Given the description of an element on the screen output the (x, y) to click on. 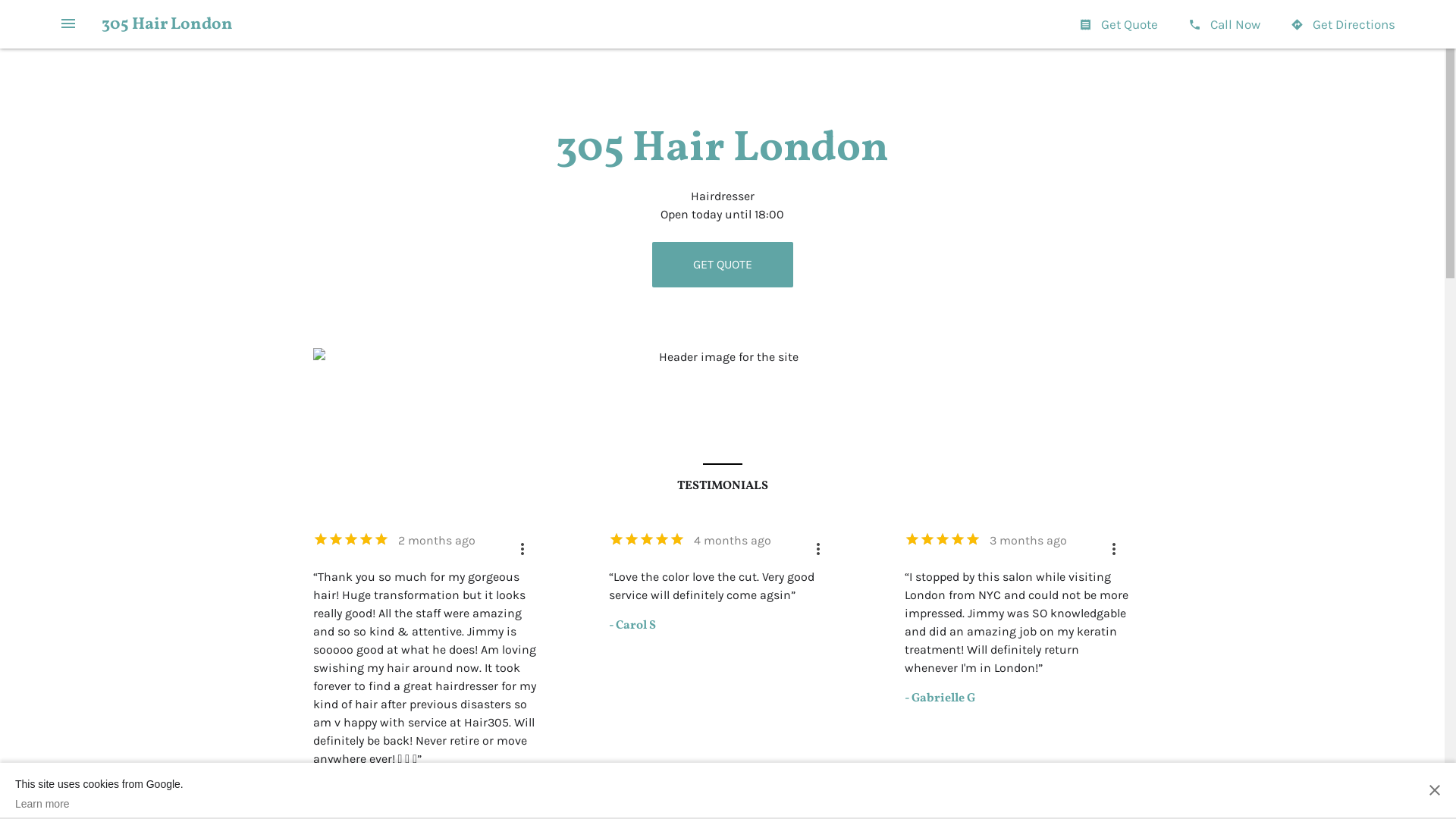
GET QUOTE Element type: text (722, 264)
Learn more Element type: text (99, 803)
305 Hair London Element type: text (166, 23)
